Given the description of an element on the screen output the (x, y) to click on. 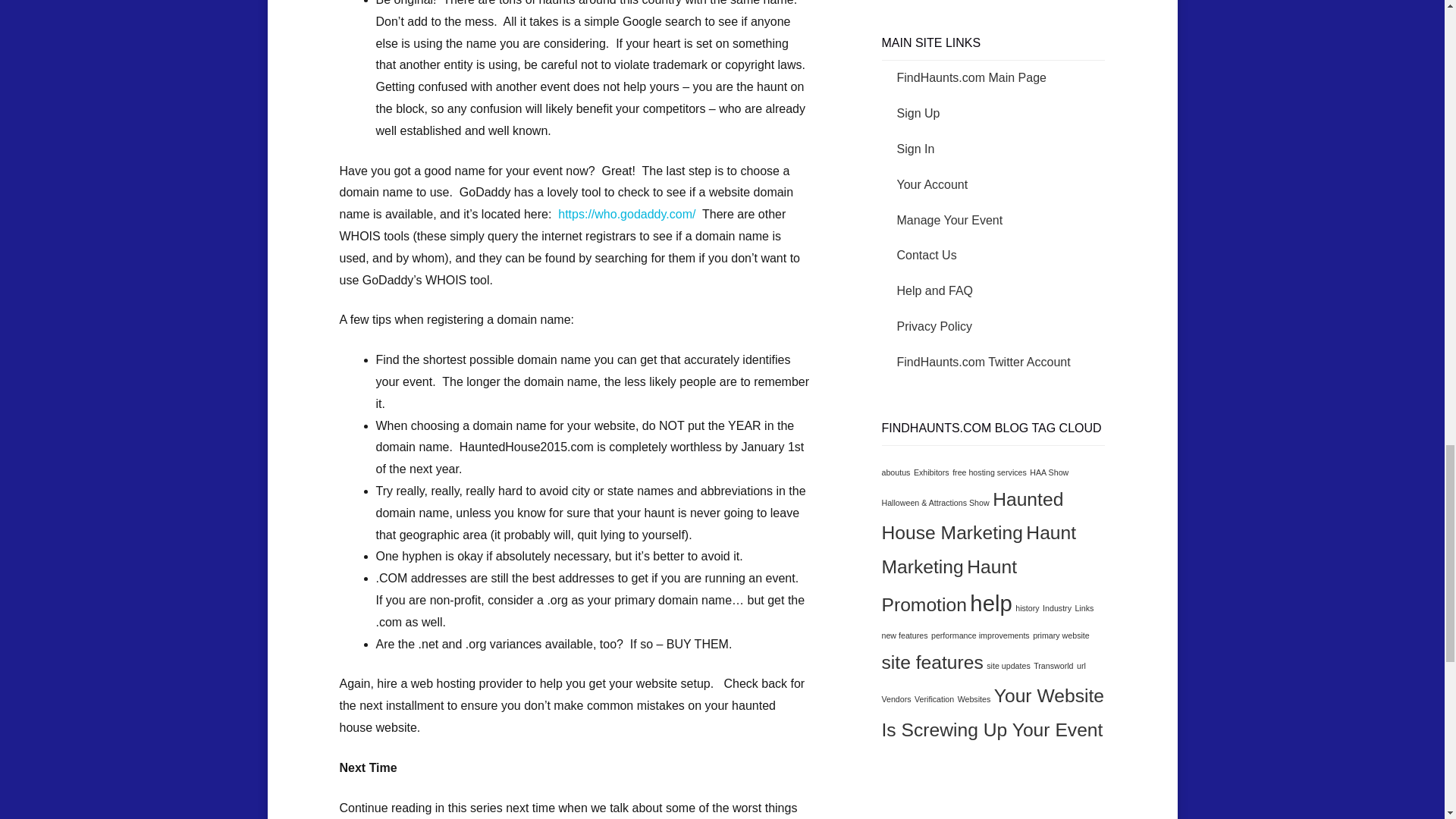
Manage your Event (949, 219)
FindHaunts.com Main Page (970, 77)
1 topic (1048, 471)
1 topic (931, 471)
Privacy Policy (934, 326)
Sign up for FindHaunts.com (917, 113)
You Account (932, 184)
Help and FAQ (934, 290)
1 topic (989, 471)
FindHaunts.com Twitter Account (983, 361)
